Given the description of an element on the screen output the (x, y) to click on. 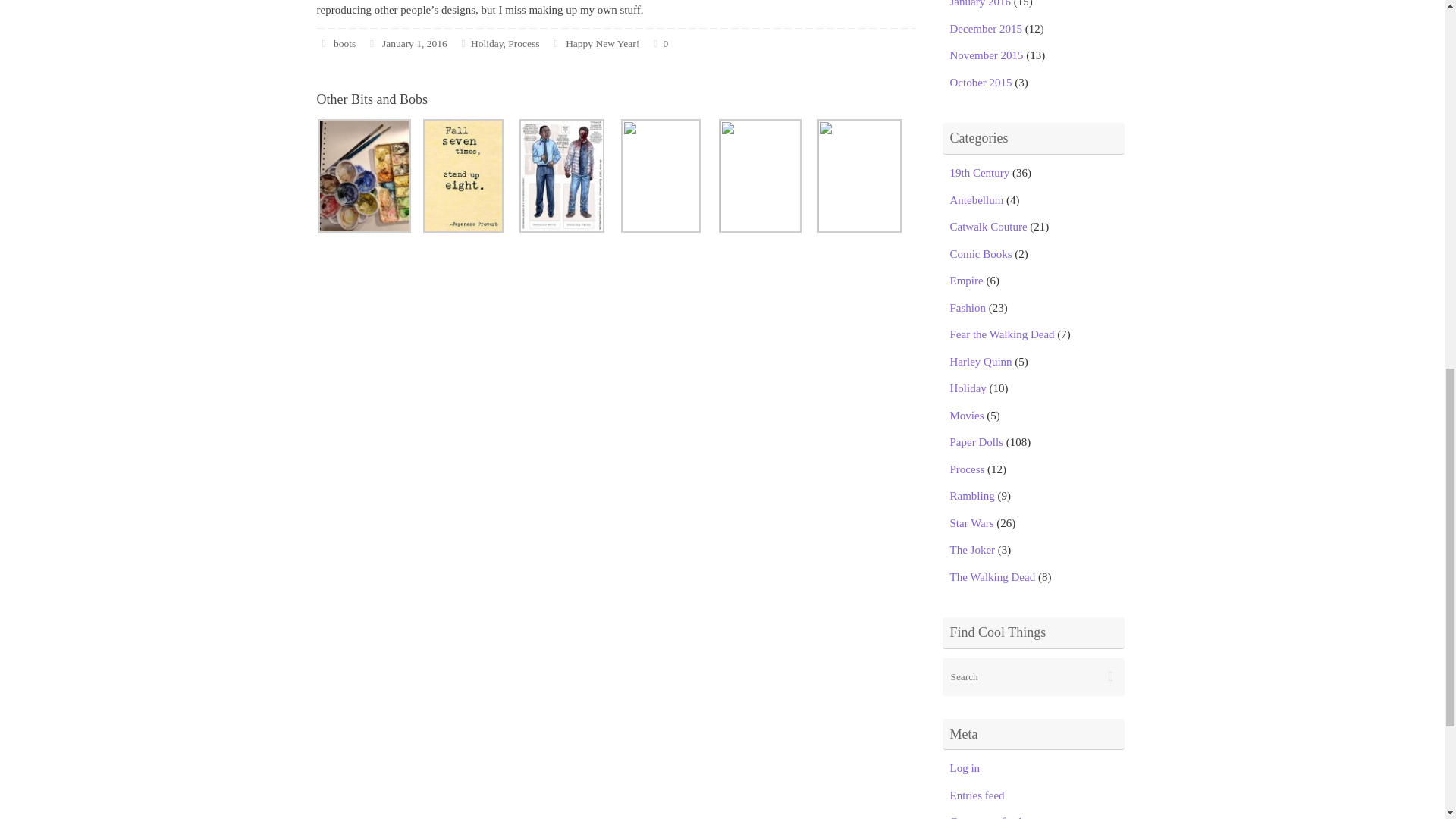
Categories (463, 43)
boots (344, 43)
January 1, 2016 (413, 43)
January 2016 (979, 3)
Happy New Year! (602, 43)
Date (371, 43)
Process (523, 43)
November 2015 (986, 55)
Author  (324, 43)
View all posts by boots (344, 43)
